Given the description of an element on the screen output the (x, y) to click on. 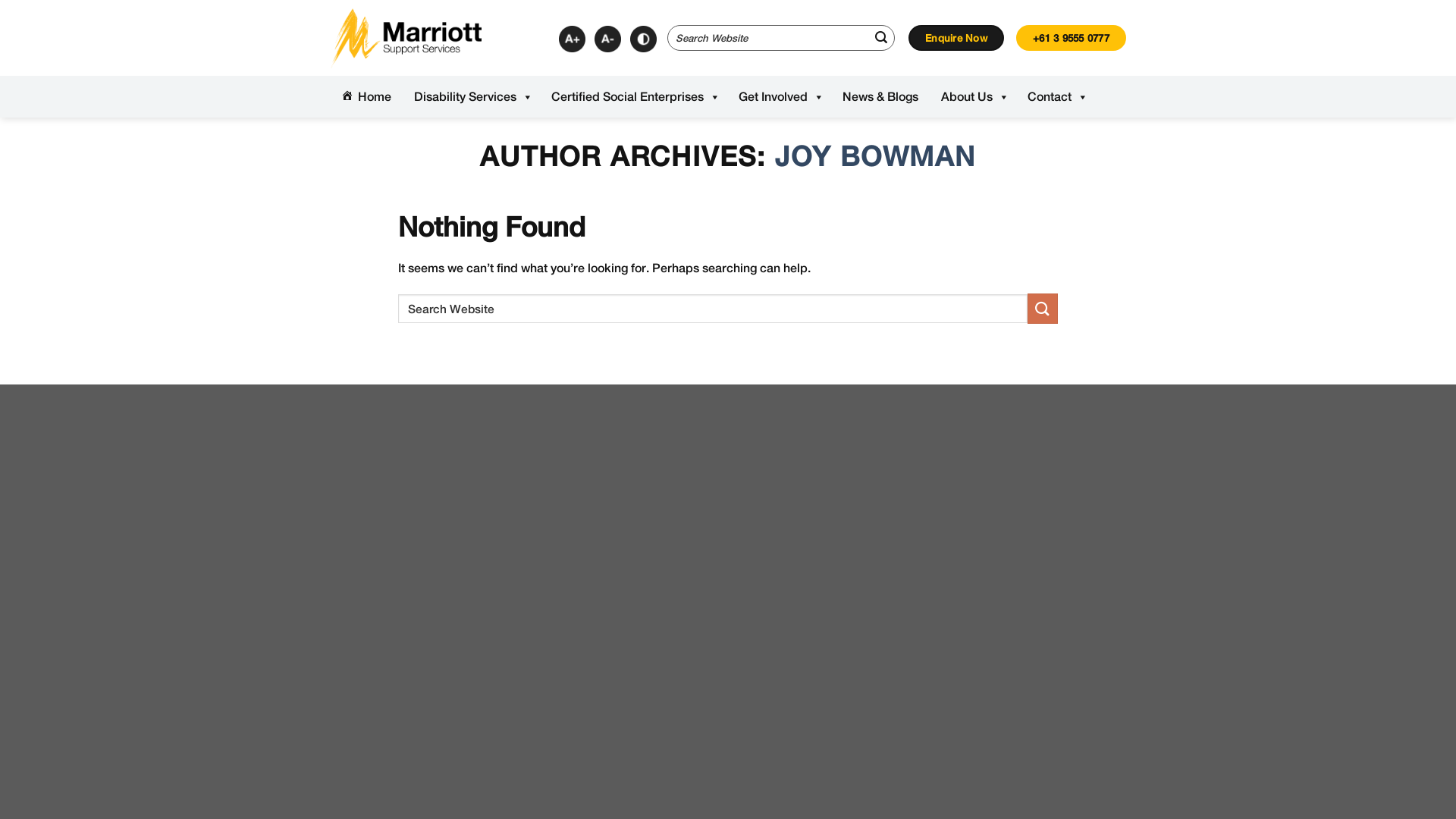
Decrease font size Element type: hover (607, 38)
Contact Element type: text (1055, 96)
+61 3 9555 0777 Element type: text (1071, 37)
Marriott - marriott Element type: hover (405, 37)
Turn on/off dark mode Element type: hover (643, 38)
Get Involved Element type: text (779, 96)
Increase font size Element type: hover (571, 38)
Disability Services Element type: text (470, 96)
News & Blogs Element type: text (880, 96)
Enquire Now Element type: text (956, 37)
JOY BOWMAN Element type: text (875, 156)
About Us Element type: text (972, 96)
Home Element type: text (365, 96)
Certified Social Enterprises Element type: text (633, 96)
